Given the description of an element on the screen output the (x, y) to click on. 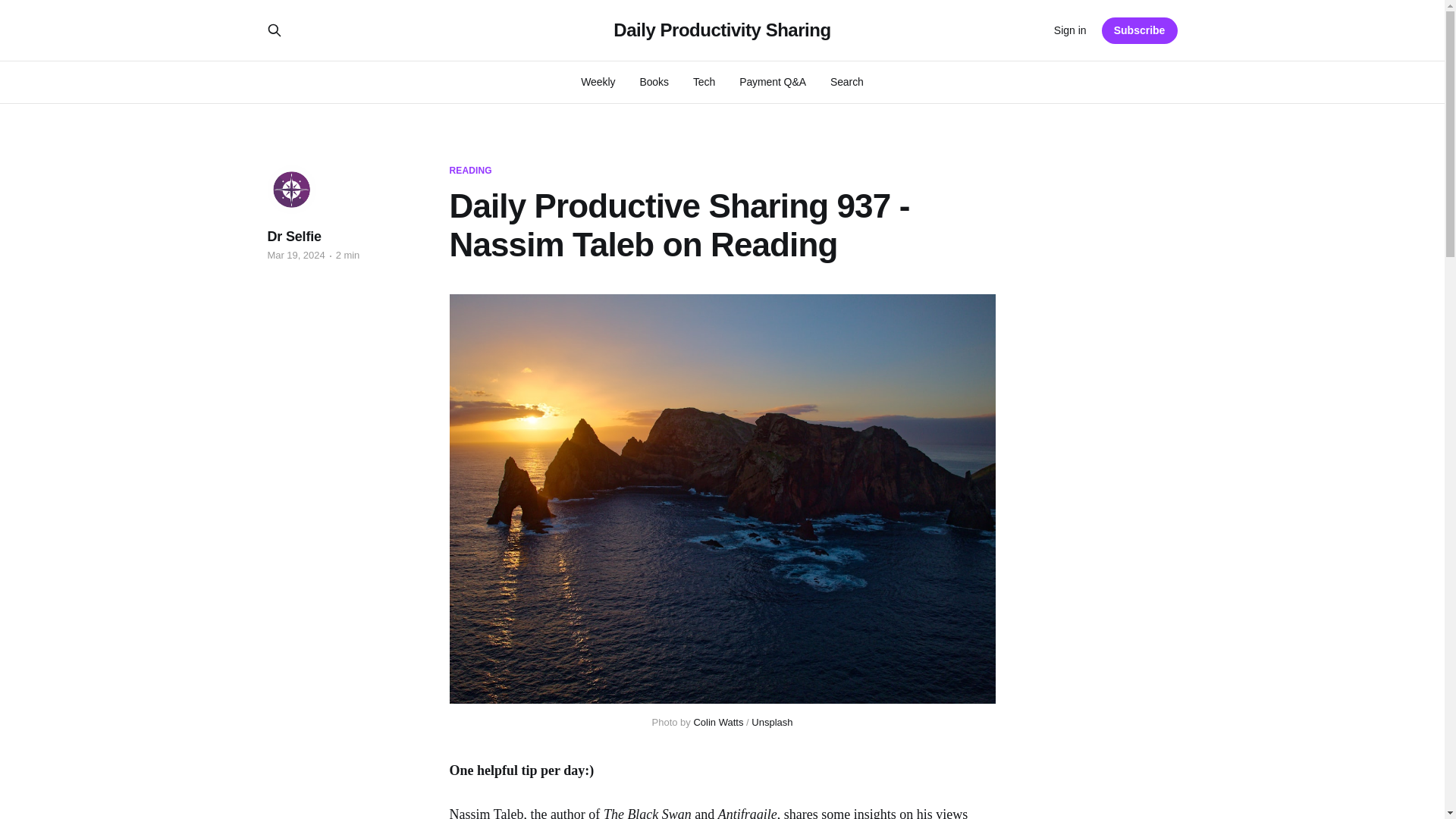
Subscribe (1139, 29)
Unsplash (771, 722)
Tech (703, 81)
Daily Productivity Sharing (720, 30)
Sign in (1070, 30)
Weekly (597, 81)
Books (653, 81)
Dr Selfie (293, 236)
READING (470, 170)
Search (846, 81)
